Given the description of an element on the screen output the (x, y) to click on. 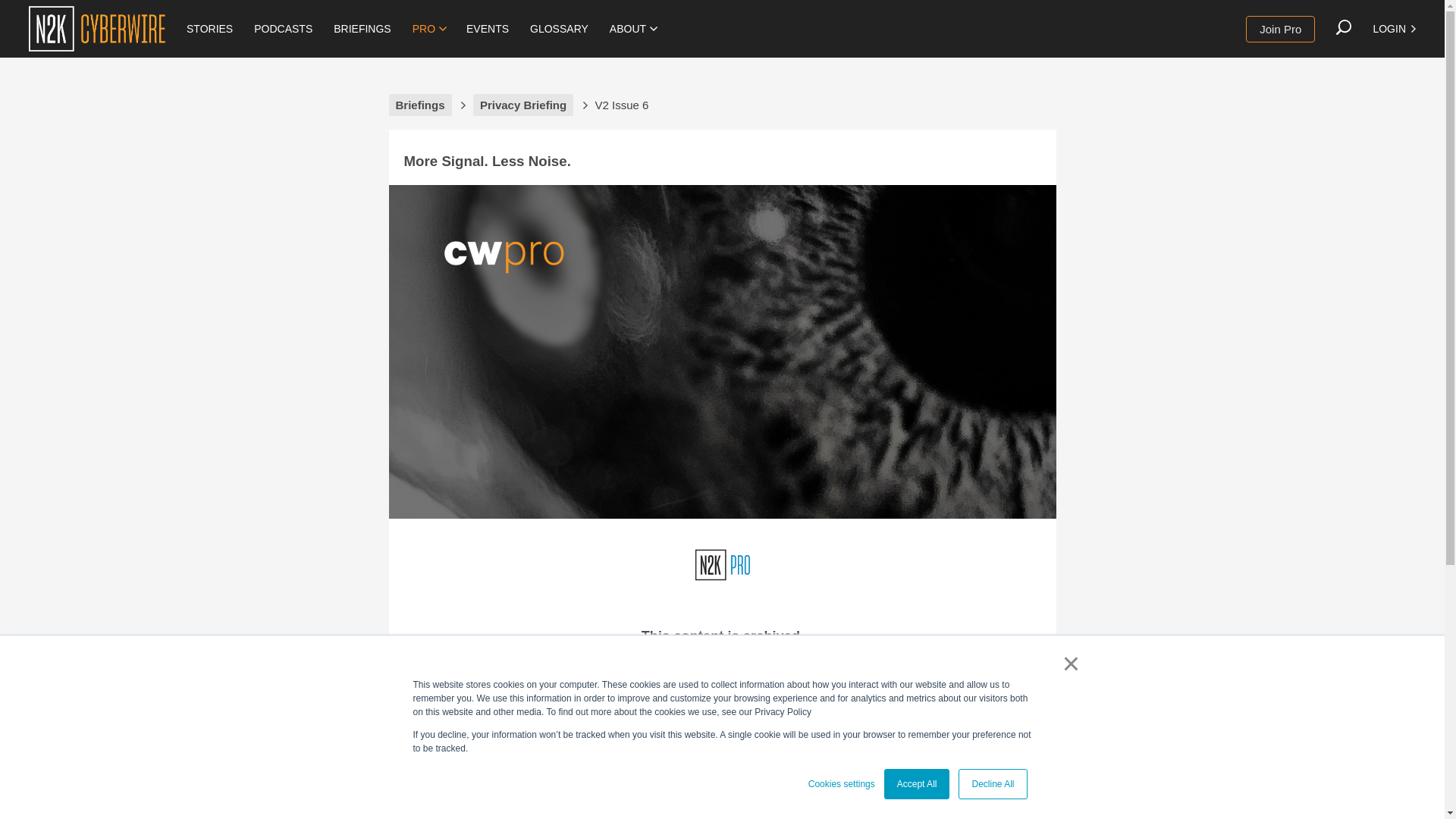
EVENTS (487, 28)
Cookies settings (841, 784)
Accept All (916, 784)
BRIEFINGS (362, 28)
Search the site (1343, 27)
GLOSSARY (558, 28)
Decline All (992, 784)
PODCASTS (283, 28)
Join Pro (1280, 28)
STORIES (209, 28)
